Given the description of an element on the screen output the (x, y) to click on. 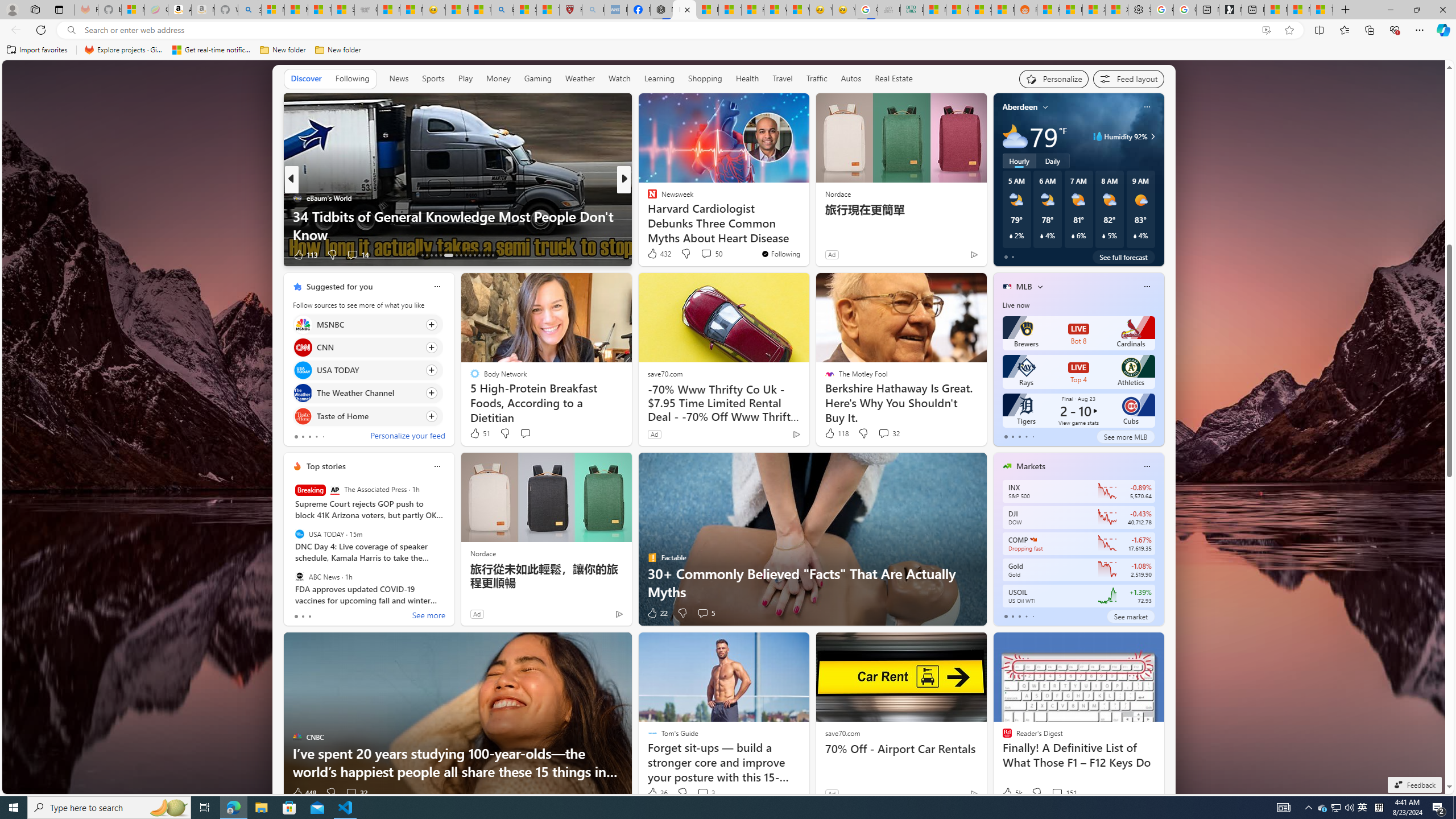
View comments 32 Comment (355, 792)
View comments 50 Comment (710, 253)
Ad Choice (972, 793)
Money (498, 78)
Class: weather-arrow-glyph (1152, 136)
Gaming (537, 78)
Class: icon-img (1146, 465)
AutomationID: tab-71 (448, 255)
Microsoft Start Gaming (1230, 9)
Personalize your feed (407, 436)
See market (1130, 616)
34 Tidbits of General Knowledge Most People Don't Know (457, 225)
